Given the description of an element on the screen output the (x, y) to click on. 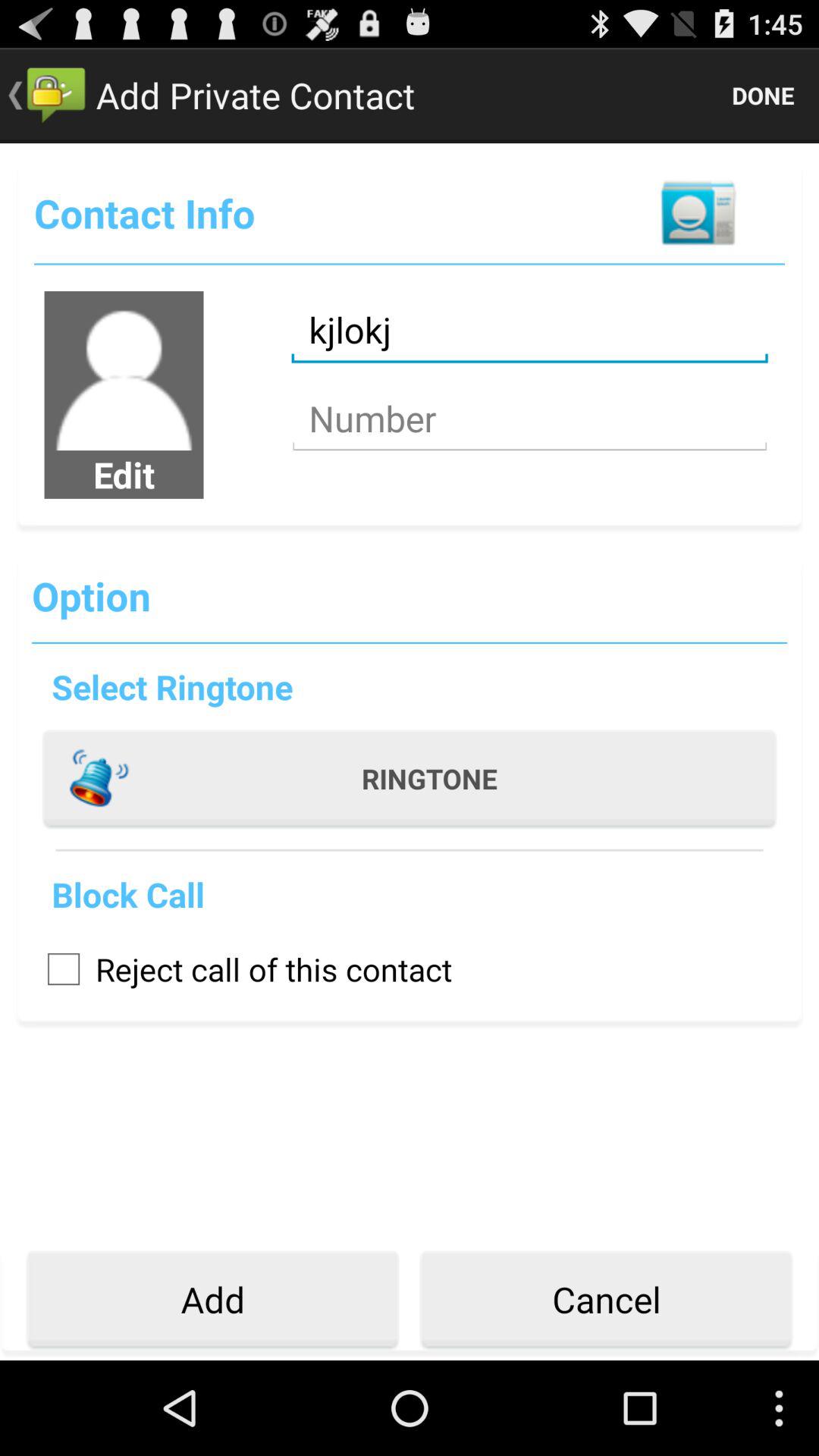
avatar picture (123, 370)
